Given the description of an element on the screen output the (x, y) to click on. 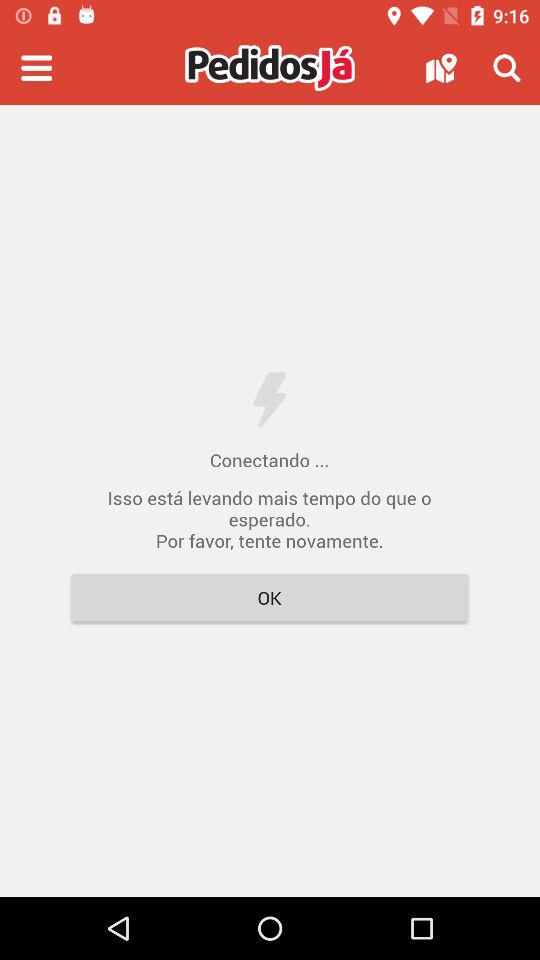
press the ok (269, 597)
